Given the description of an element on the screen output the (x, y) to click on. 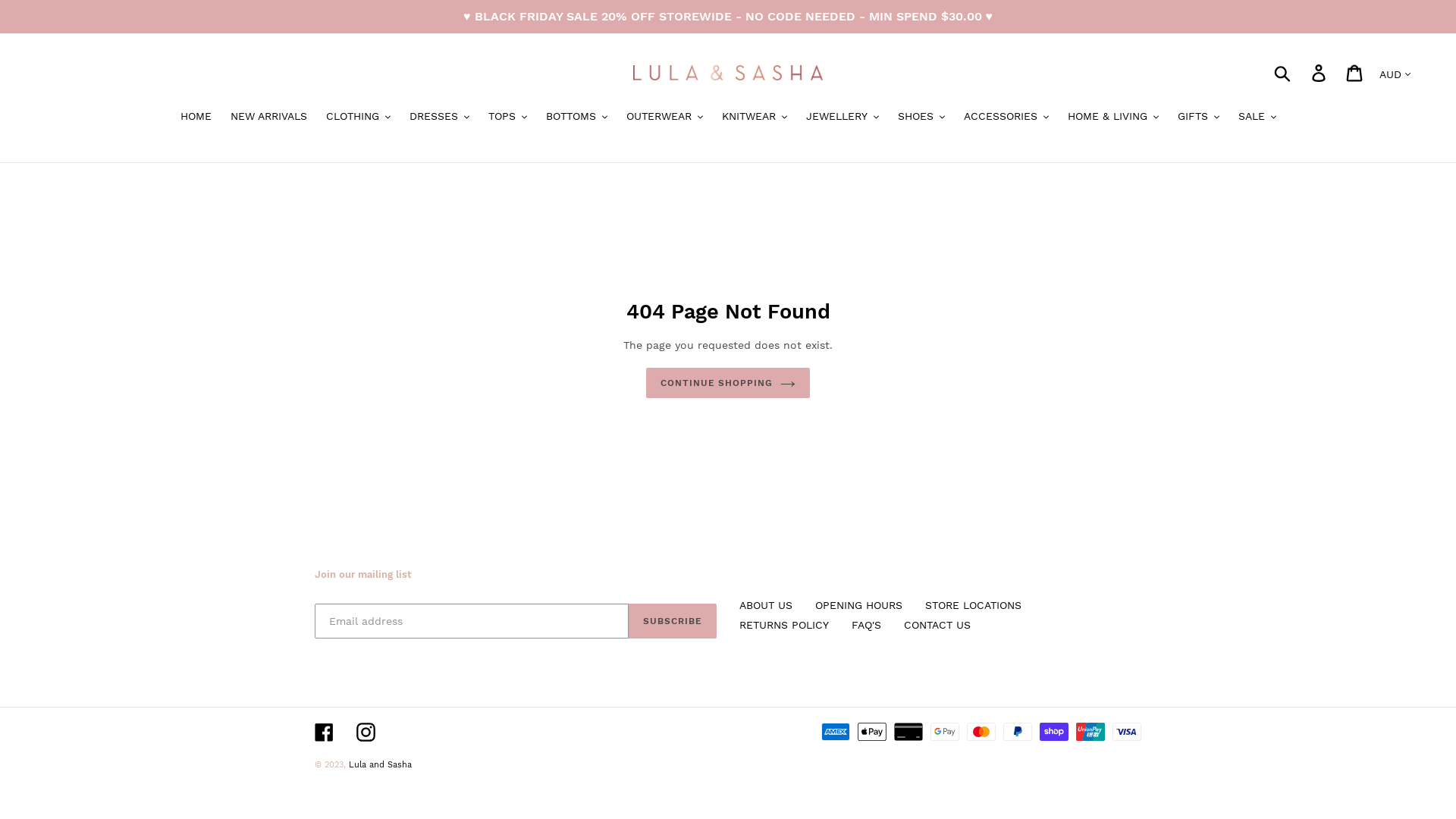
CONTACT US Element type: text (936, 624)
CONTINUE SHOPPING Element type: text (727, 382)
ABOUT US Element type: text (765, 605)
SUBSCRIBE Element type: text (672, 620)
HOME Element type: text (195, 117)
OPENING HOURS Element type: text (858, 605)
Lula and Sasha Element type: text (379, 764)
NEW ARRIVALS Element type: text (268, 117)
Log in Element type: text (1319, 72)
STORE LOCATIONS Element type: text (973, 605)
Instagram Element type: text (365, 731)
RETURNS POLICY Element type: text (783, 624)
Submit Element type: text (1283, 72)
Cart Element type: text (1355, 72)
FAQ'S Element type: text (866, 624)
Facebook Element type: text (323, 731)
